Given the description of an element on the screen output the (x, y) to click on. 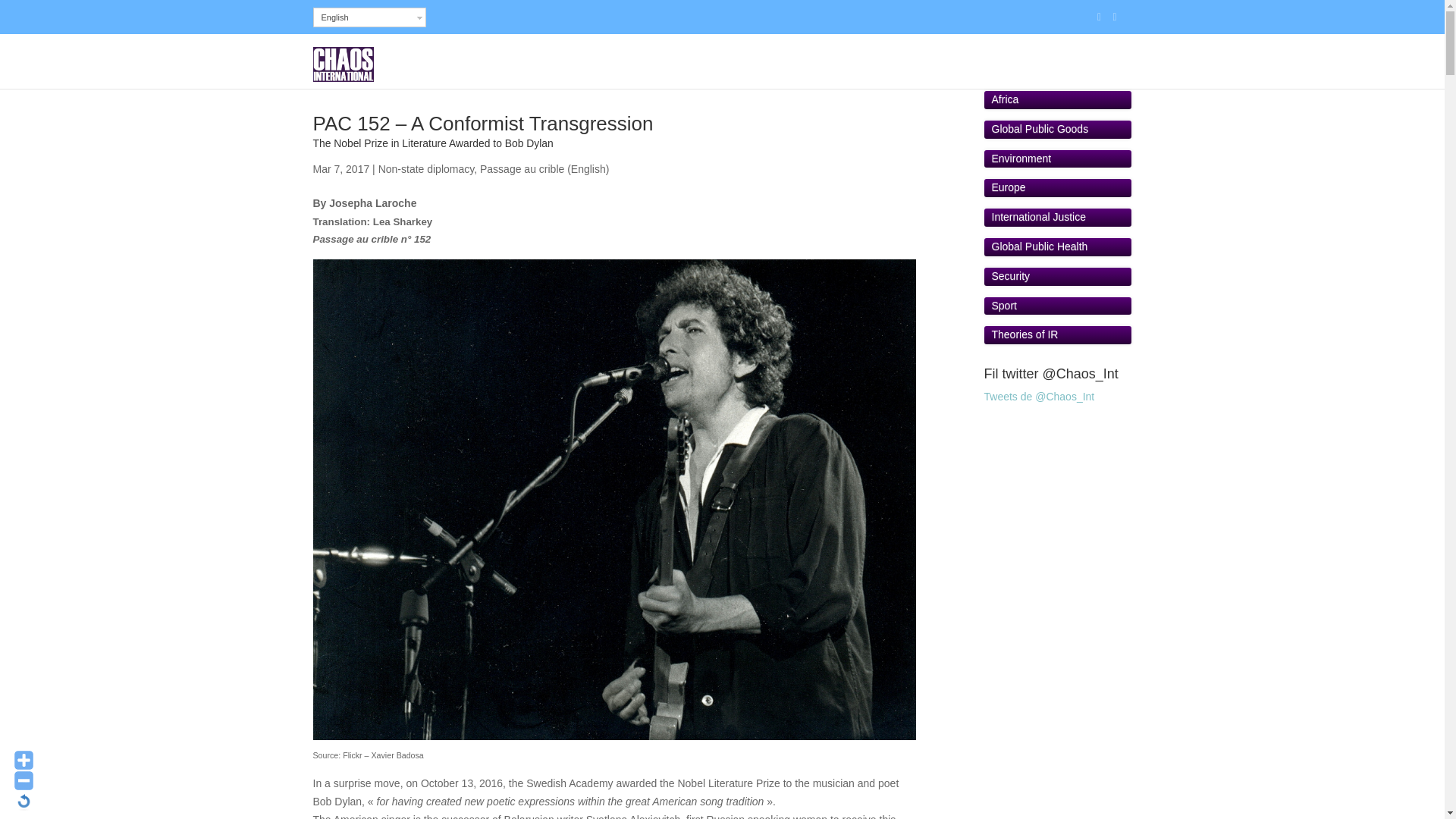
Research dissemination (1027, 71)
English (369, 17)
Home (840, 71)
Non-state diplomacy (426, 168)
Publications (906, 71)
